Given the description of an element on the screen output the (x, y) to click on. 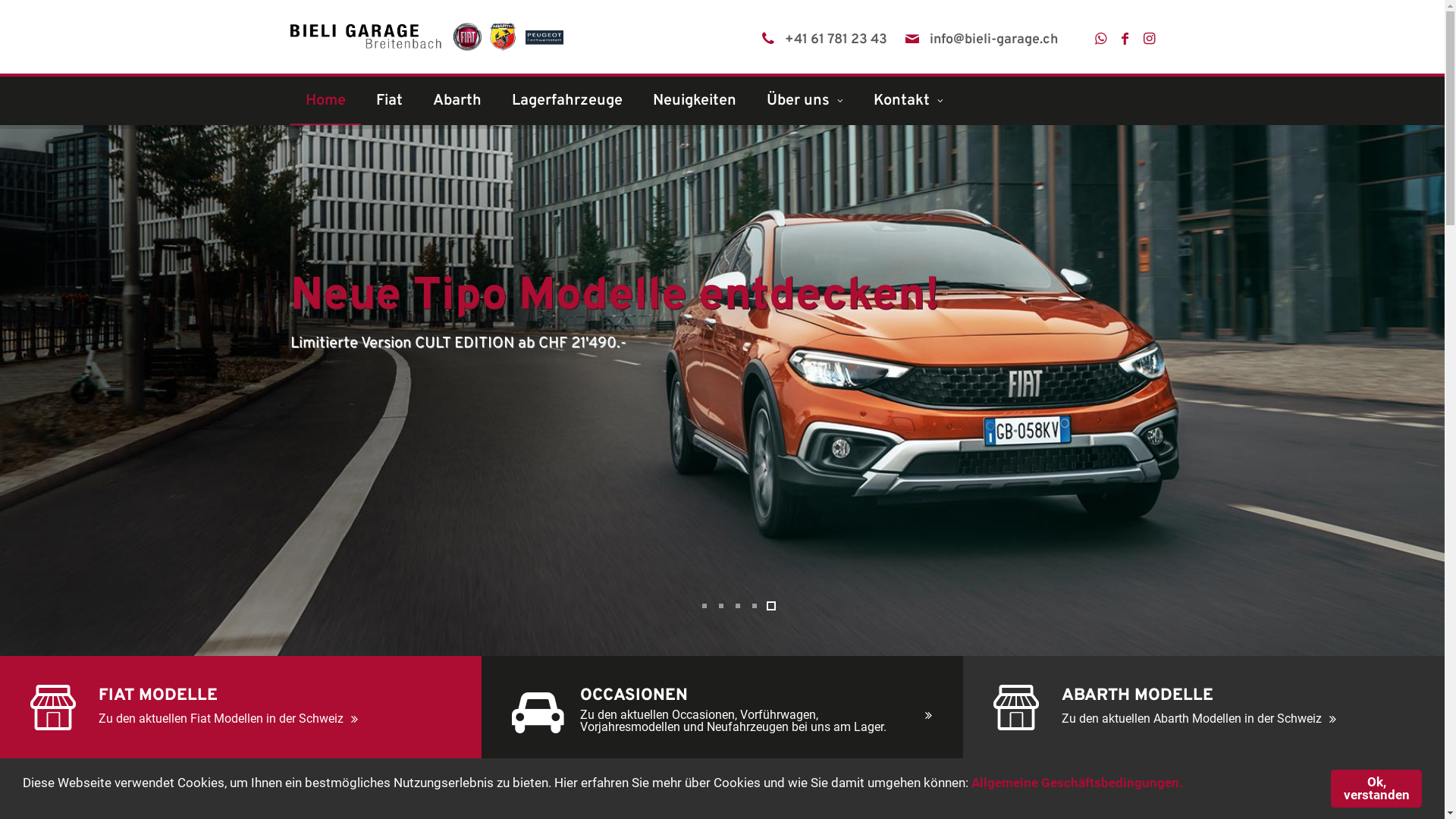
info@bieli-garage.ch Element type: text (993, 40)
Kontakt Element type: text (908, 100)
FIAT MODELLE
Zu den aktuellen Fiat Modellen in der Schweiz Element type: text (240, 711)
+41 61 781 23 43 Element type: text (835, 40)
Lagerfahrzeuge Element type: text (566, 100)
Abarth Element type: text (456, 100)
Home Element type: text (324, 100)
Fiat Element type: text (388, 100)
Ok, verstanden Element type: text (1375, 788)
Neuigkeiten Element type: text (693, 100)
